Given the description of an element on the screen output the (x, y) to click on. 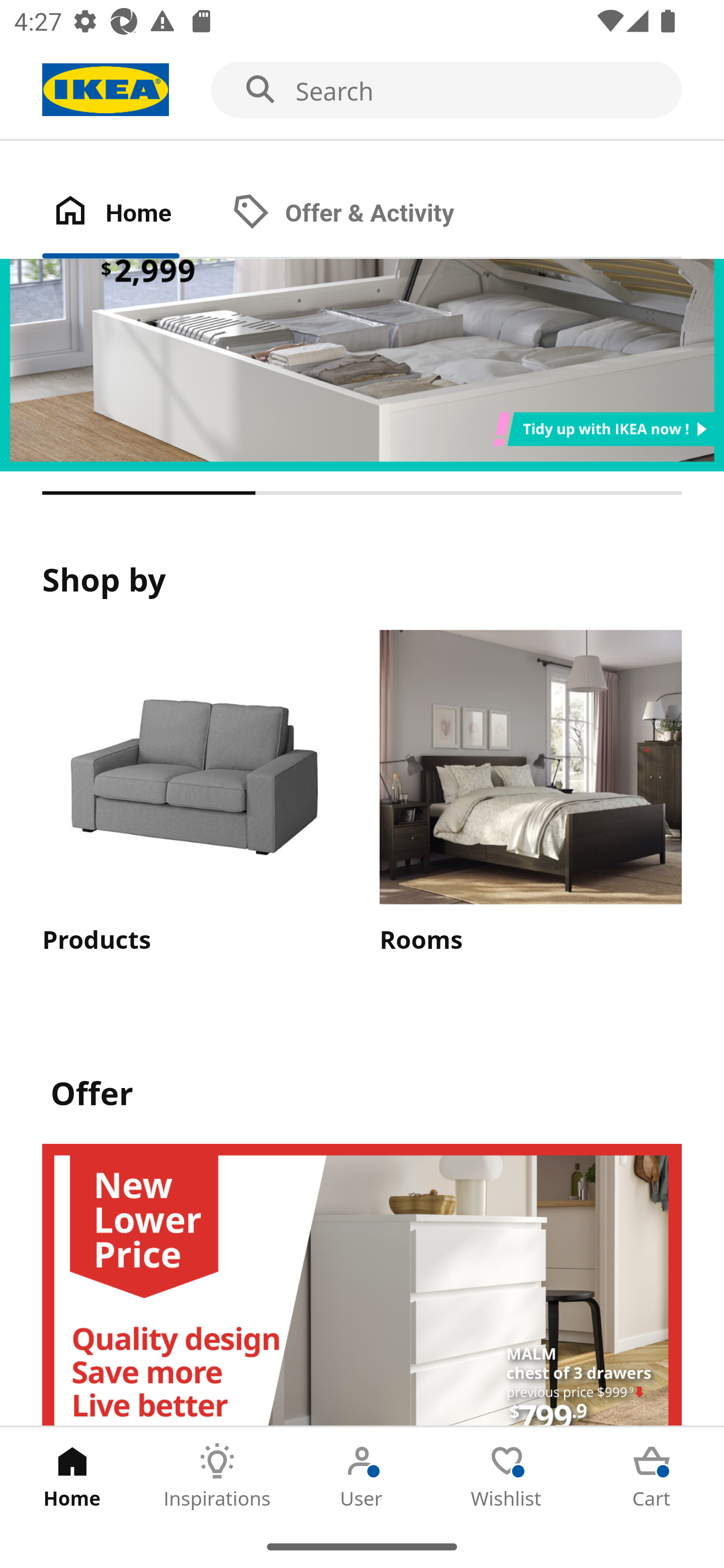
Search (361, 90)
Home
Tab 1 of 2 (131, 213)
Offer & Activity
Tab 2 of 2 (363, 213)
Products (192, 794)
Rooms (530, 794)
Home
Tab 1 of 5 (72, 1476)
Inspirations
Tab 2 of 5 (216, 1476)
User
Tab 3 of 5 (361, 1476)
Wishlist
Tab 4 of 5 (506, 1476)
Cart
Tab 5 of 5 (651, 1476)
